Given the description of an element on the screen output the (x, y) to click on. 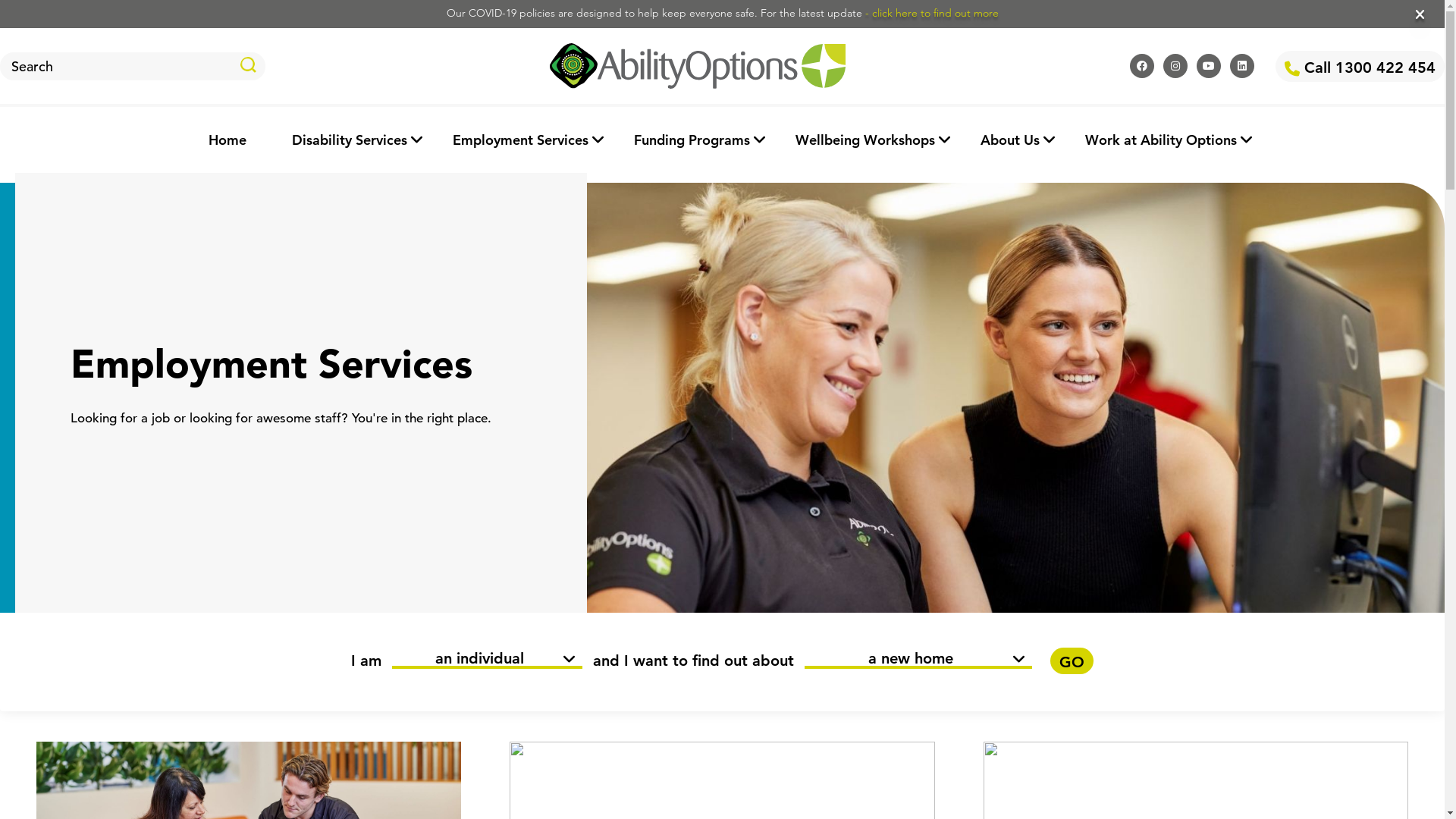
Work at Ability Options Element type: text (1160, 139)
Home Element type: text (226, 139)
Disability Services Element type: text (348, 139)
Call 1300 422 454 Element type: text (1359, 65)
search Element type: text (248, 64)
- click here to find out more Element type: text (930, 13)
Wellbeing Workshops Element type: text (864, 139)
GO Element type: text (1071, 660)
About Us Element type: text (1008, 139)
Funding Programs Element type: text (691, 139)
Employment Services Element type: text (519, 139)
